Given the description of an element on the screen output the (x, y) to click on. 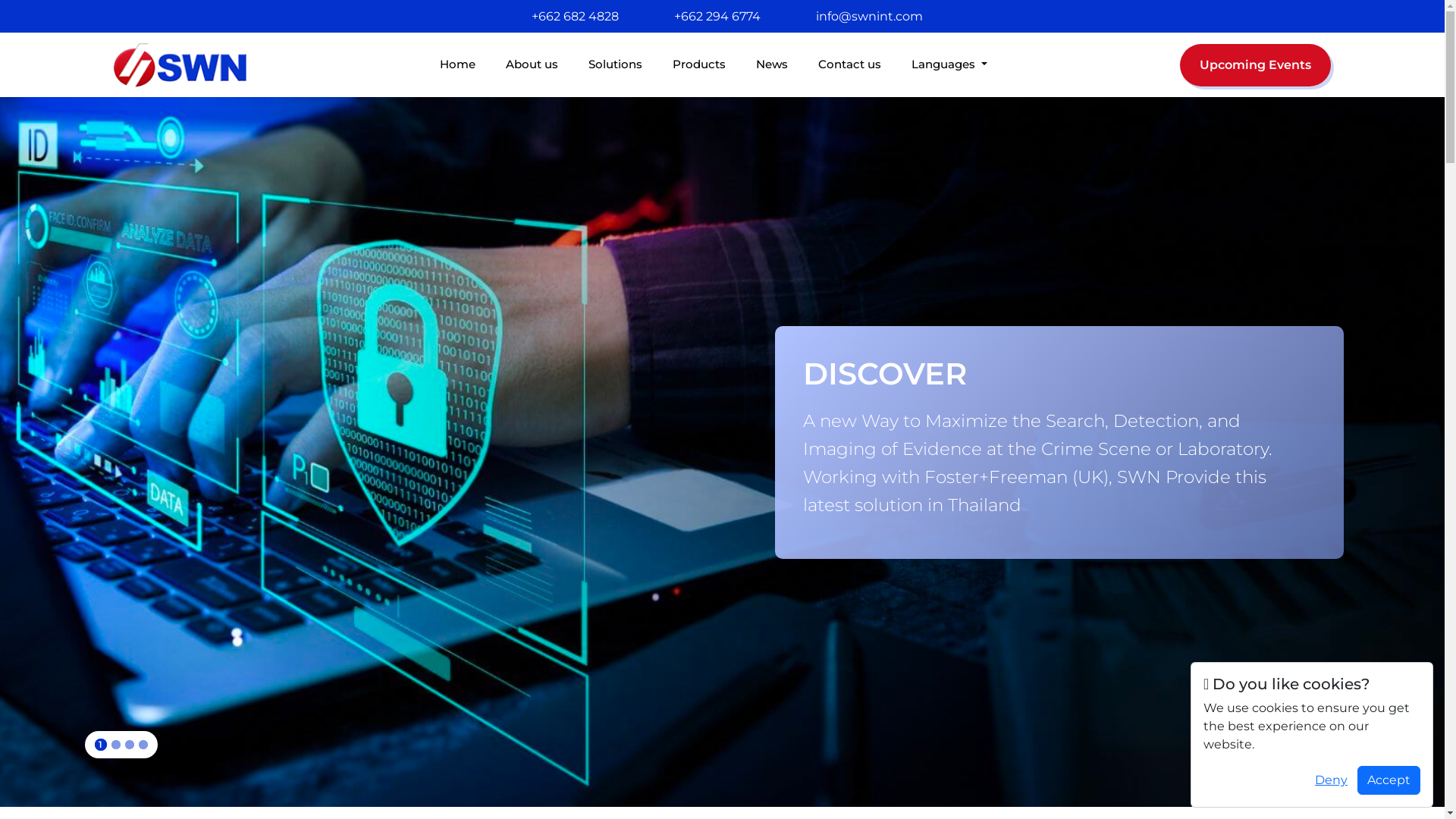
About us Element type: text (531, 64)
Products Element type: text (698, 64)
+662 682 4828 Element type: text (574, 16)
Home Element type: text (457, 64)
Contact us Element type: text (849, 64)
Accept Element type: text (1388, 779)
News Element type: text (771, 64)
Deny Element type: text (1331, 779)
Solutions Element type: text (615, 64)
+662 294 6774 Element type: text (717, 16)
Upcoming Events Element type: text (1254, 64)
info@swnint.com Element type: text (868, 16)
Languages Element type: text (949, 64)
